Given the description of an element on the screen output the (x, y) to click on. 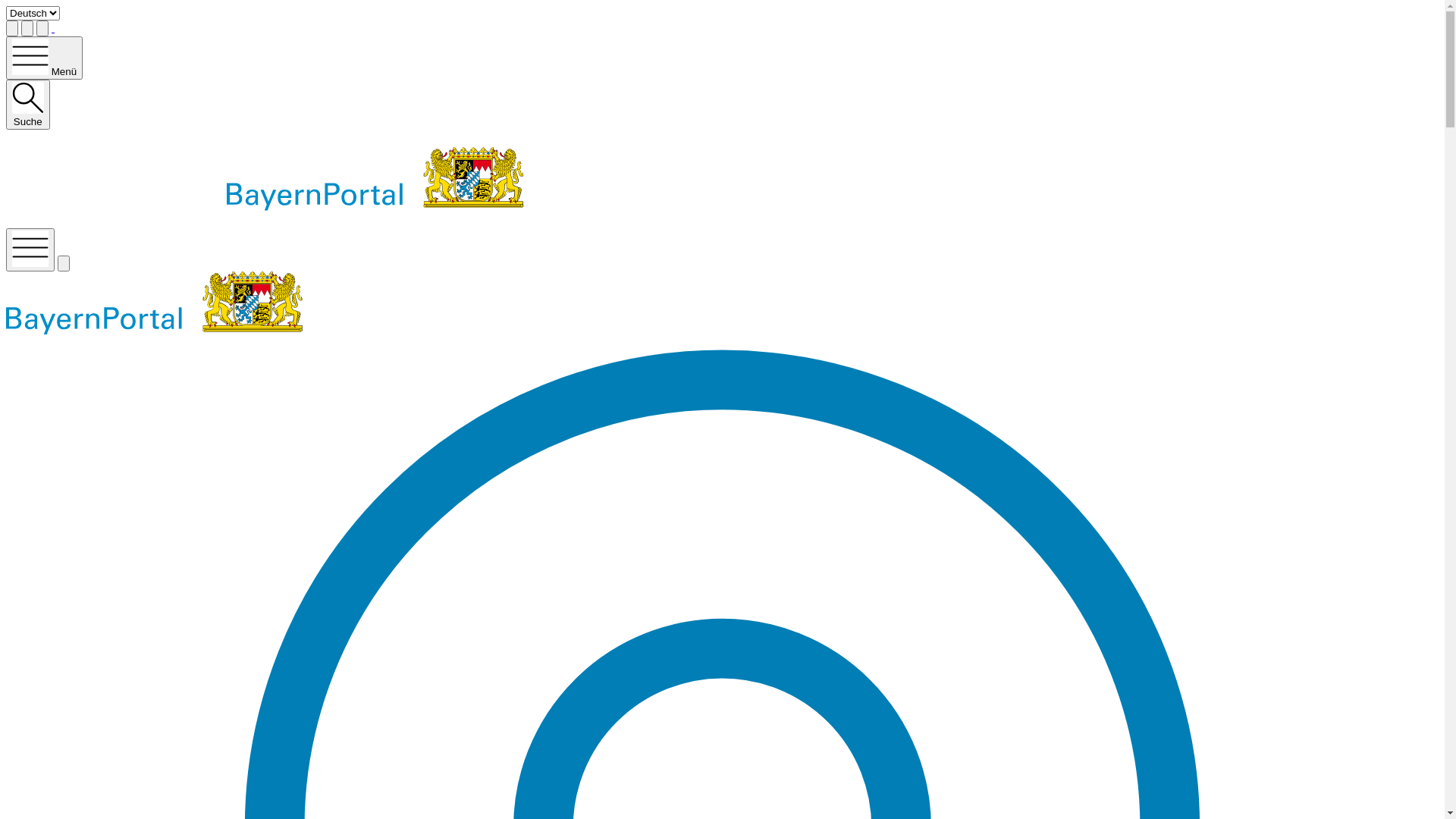
Suche Element type: text (28, 104)
